Given the description of an element on the screen output the (x, y) to click on. 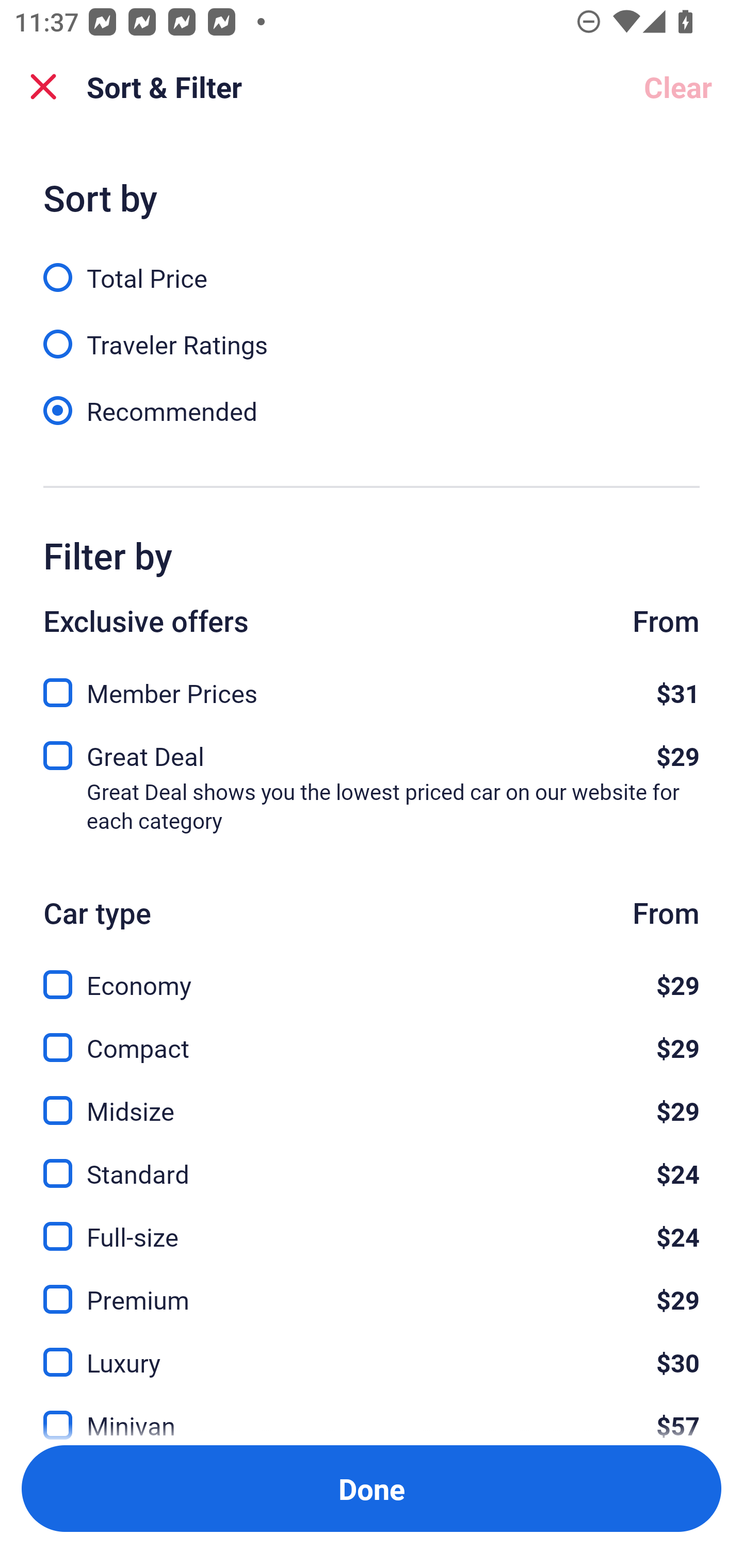
Close Sort and Filter (43, 86)
Clear (677, 86)
Total Price (371, 266)
Traveler Ratings (371, 332)
Member Prices, $31 Member Prices $31 (371, 686)
Economy, $29 Economy $29 (371, 973)
Compact, $29 Compact $29 (371, 1036)
Midsize, $29 Midsize $29 (371, 1098)
Standard, $24 Standard $24 (371, 1161)
Full-size, $24 Full-size $24 (371, 1224)
Premium, $29 Premium $29 (371, 1286)
Luxury, $30 Luxury $30 (371, 1350)
Minivan, $57 Minivan $57 (371, 1413)
Apply and close Sort and Filter Done (371, 1488)
